Given the description of an element on the screen output the (x, y) to click on. 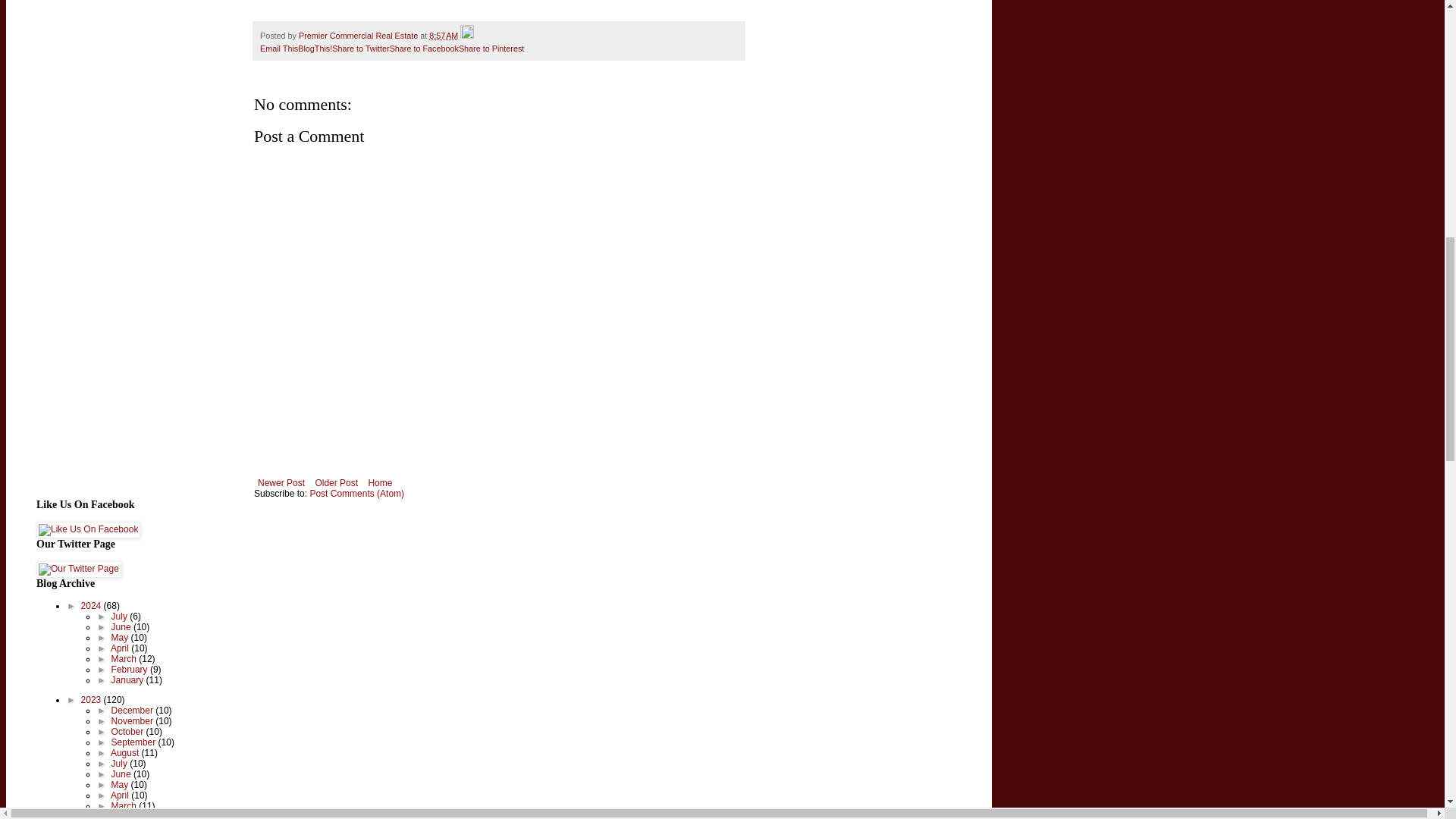
Email This (279, 48)
Edit Post (467, 35)
author profile (359, 35)
Share to Facebook (424, 48)
permanent link (443, 35)
Share to Twitter (359, 48)
Share to Pinterest (491, 48)
Premier Commercial Real Estate (359, 35)
June (122, 626)
BlogThis! (314, 48)
Share to Twitter (359, 48)
Share to Pinterest (491, 48)
Older Post (336, 483)
February (130, 669)
